Given the description of an element on the screen output the (x, y) to click on. 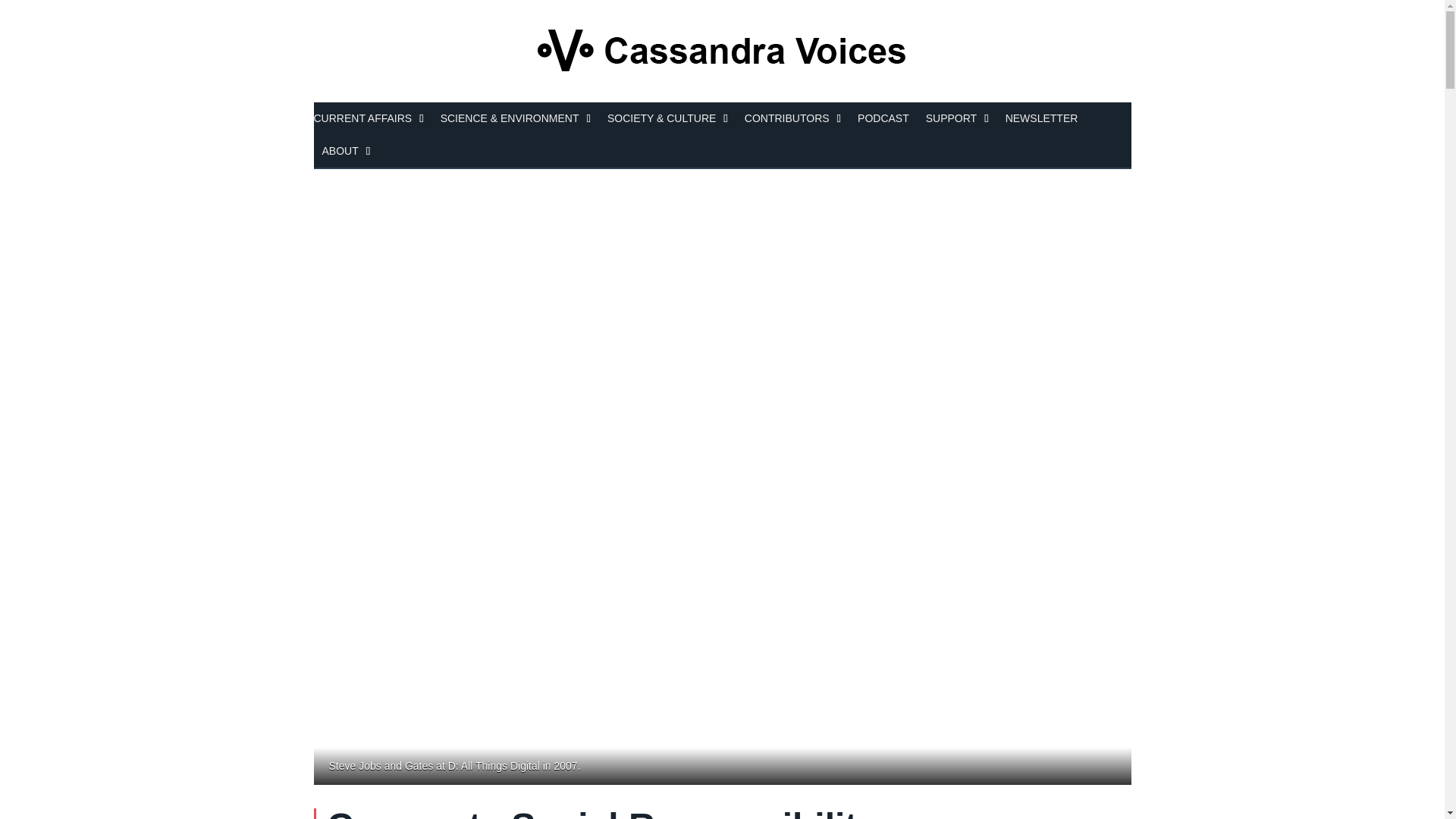
Cassandra Voices (721, 51)
CURRENT AFFAIRS (373, 119)
CONTRIBUTORS (792, 119)
